Given the description of an element on the screen output the (x, y) to click on. 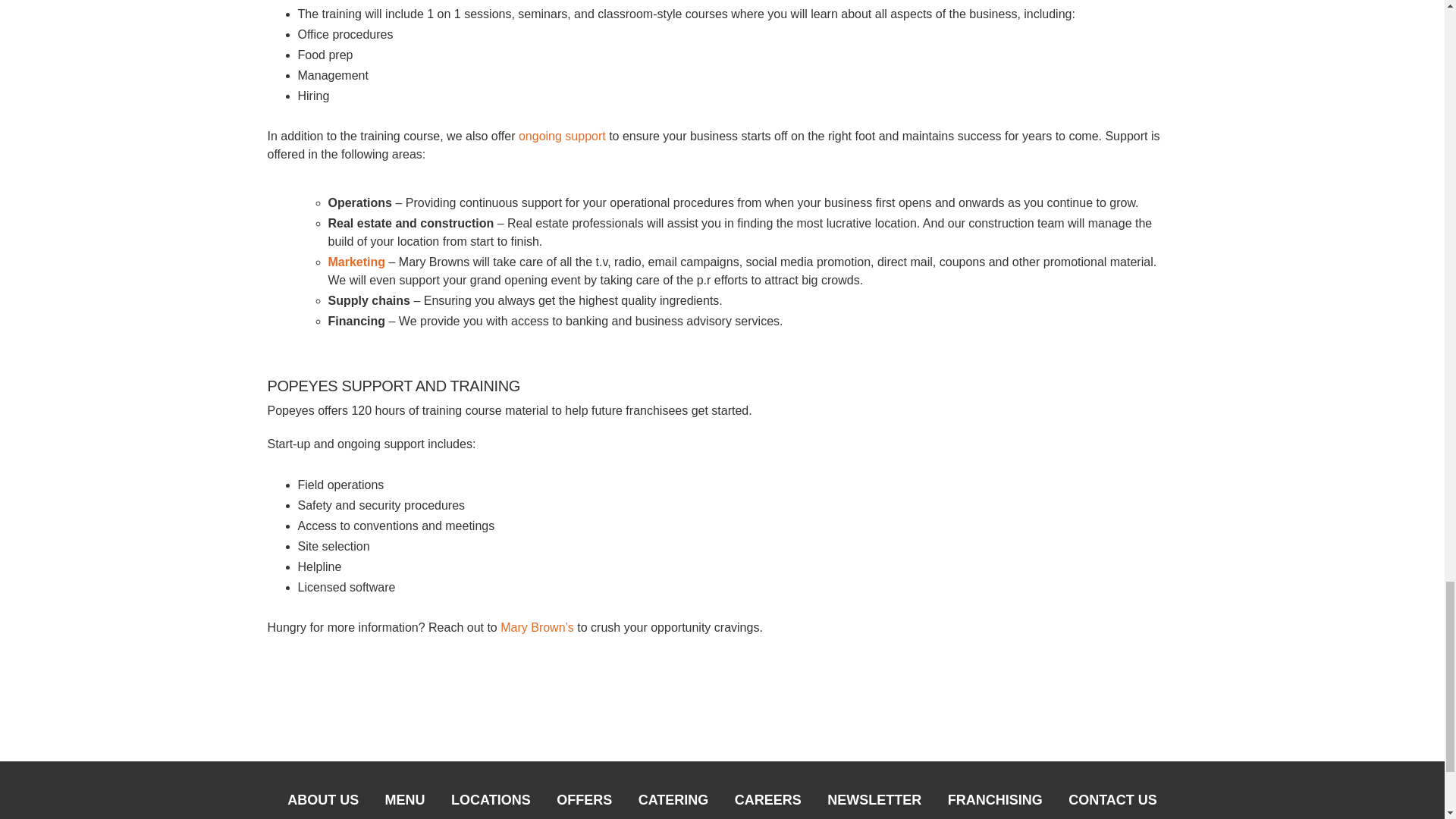
NEWSLETTER (874, 804)
OFFERS (583, 804)
CONTACT US (1113, 804)
ABOUT US (322, 804)
MENU (405, 804)
FRANCHISING (995, 804)
LOCATIONS (490, 804)
Marketing (356, 261)
ongoing support (563, 135)
CATERING (673, 804)
